Given the description of an element on the screen output the (x, y) to click on. 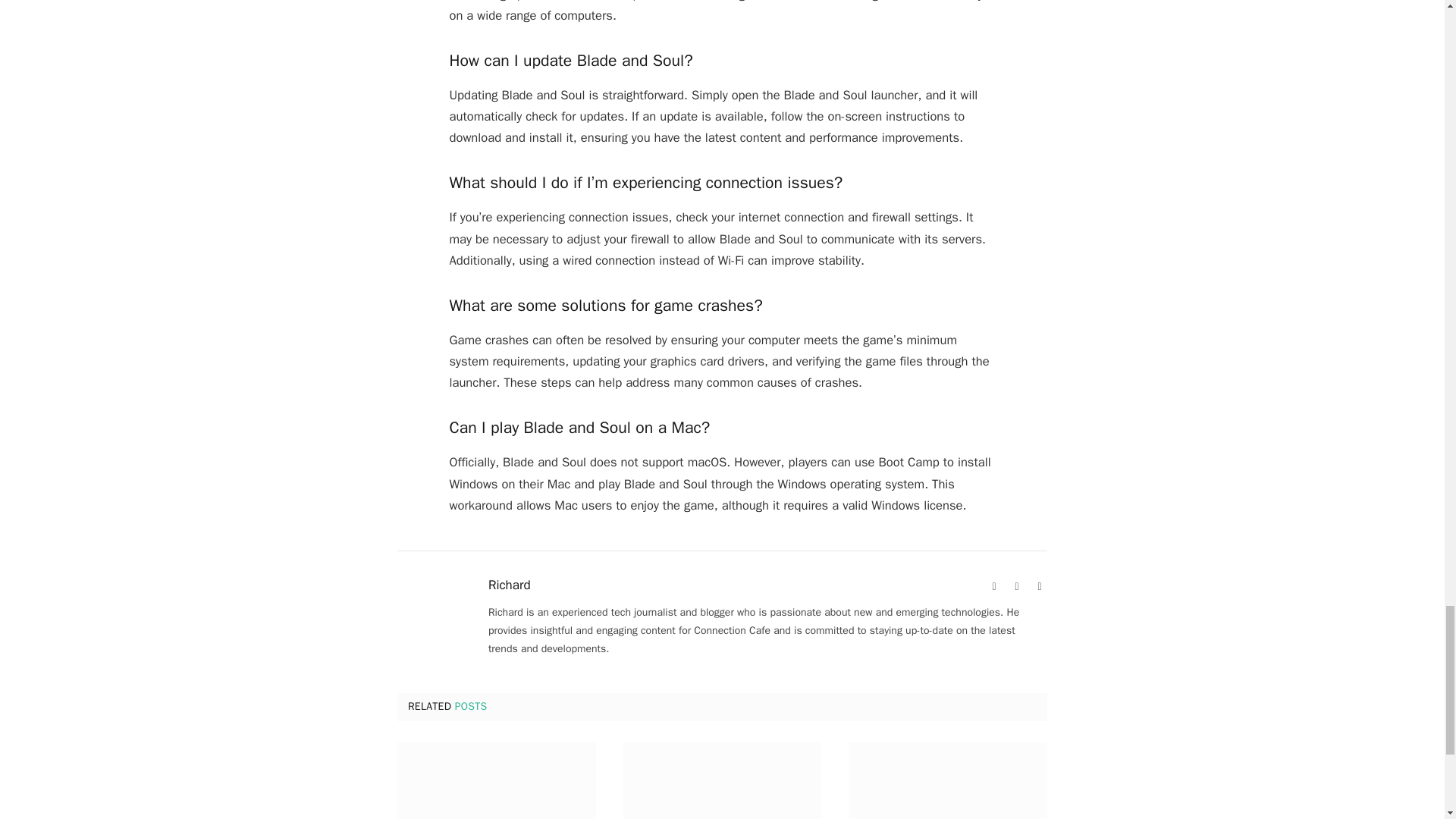
Farming Simulator 19 Server Status: Is it Working Fine? (947, 780)
Rocket League Server Status: Is it Working Fine? (496, 780)
Twitter (1039, 586)
NBA 2K14 Server Status: Is it Working Fine? (722, 780)
Website (994, 586)
Facebook (1017, 586)
Posts by Richard (509, 585)
